Given the description of an element on the screen output the (x, y) to click on. 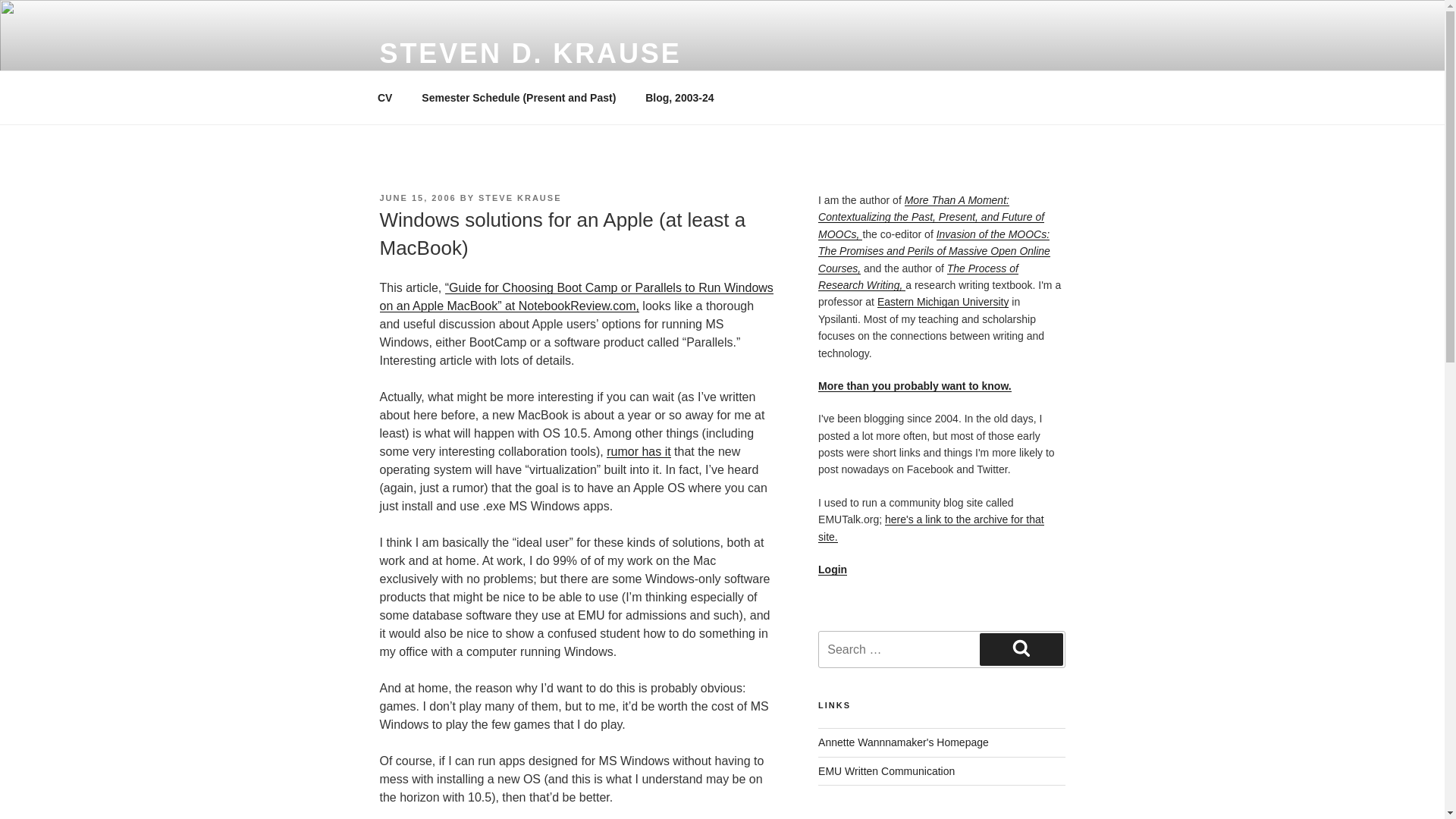
STEVEN D. KRAUSE (529, 52)
Search (1020, 649)
Annette Wannnamaker's Homepage (903, 742)
rumor has it (638, 451)
STEVE KRAUSE (520, 197)
More than you probably want to know. (914, 386)
CV (384, 97)
JUNE 15, 2006 (416, 197)
The Process of Research Writing, (917, 276)
